Given the description of an element on the screen output the (x, y) to click on. 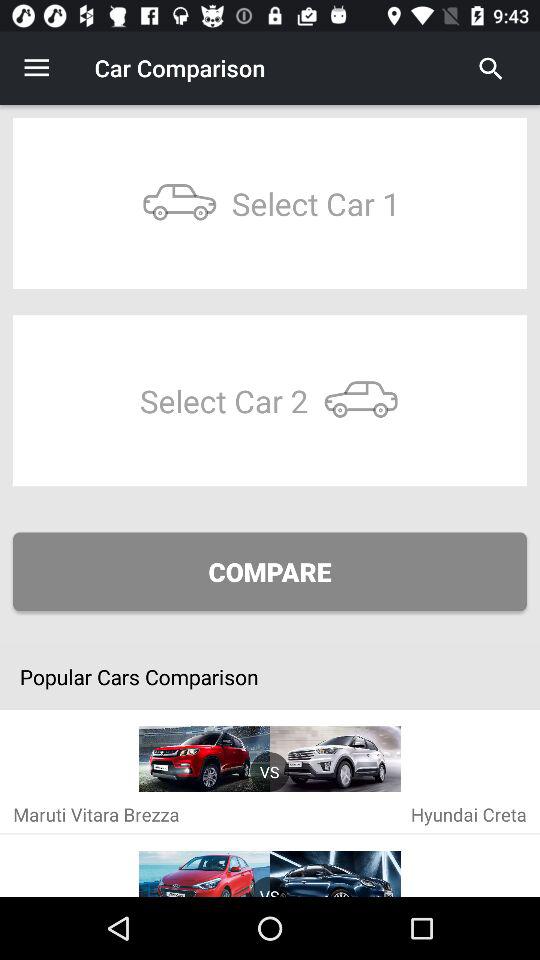
select the item above the popular cars comparison (269, 571)
